Given the description of an element on the screen output the (x, y) to click on. 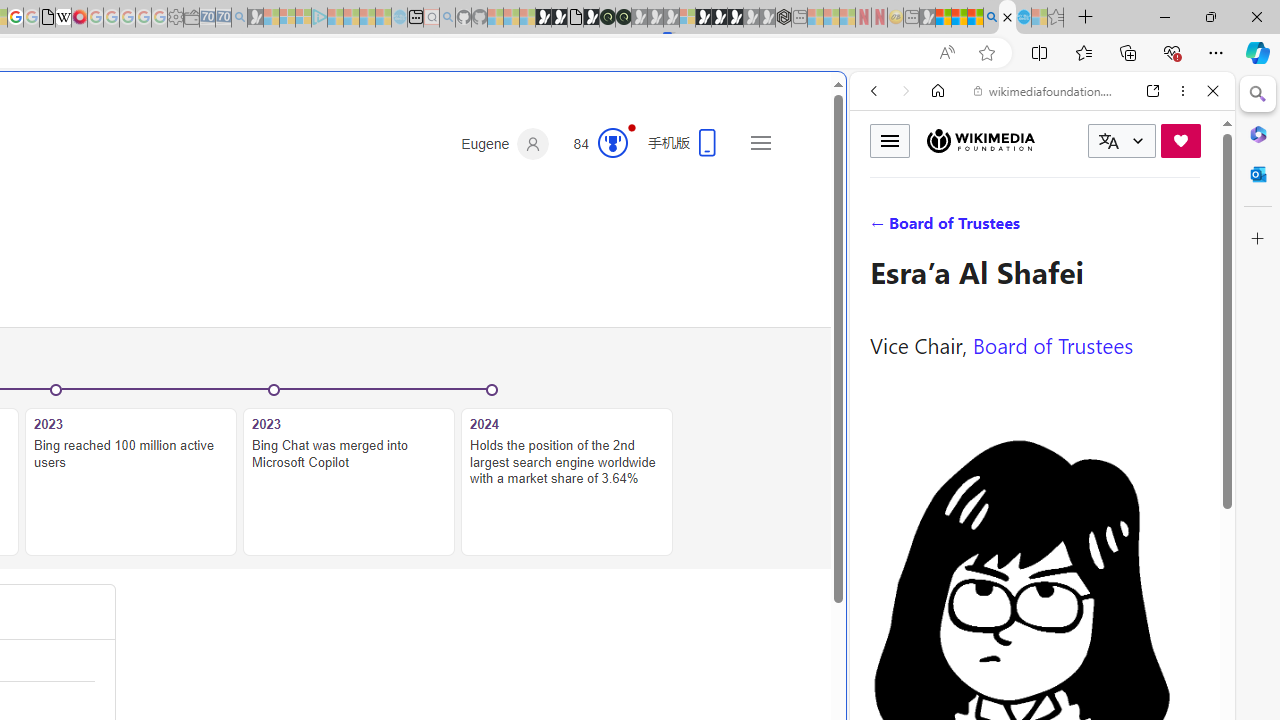
Search Filter, WEB (882, 228)
AutomationID: serp_medal_svg (612, 142)
Target page - Wikipedia (63, 17)
Home | Sky Blue Bikes - Sky Blue Bikes (687, 426)
AutomationID: rh_meter (612, 142)
Home | Sky Blue Bikes - Sky Blue Bikes - Sleeping (399, 17)
google_privacy_policy_zh-CN.pdf (47, 17)
